Given the description of an element on the screen output the (x, y) to click on. 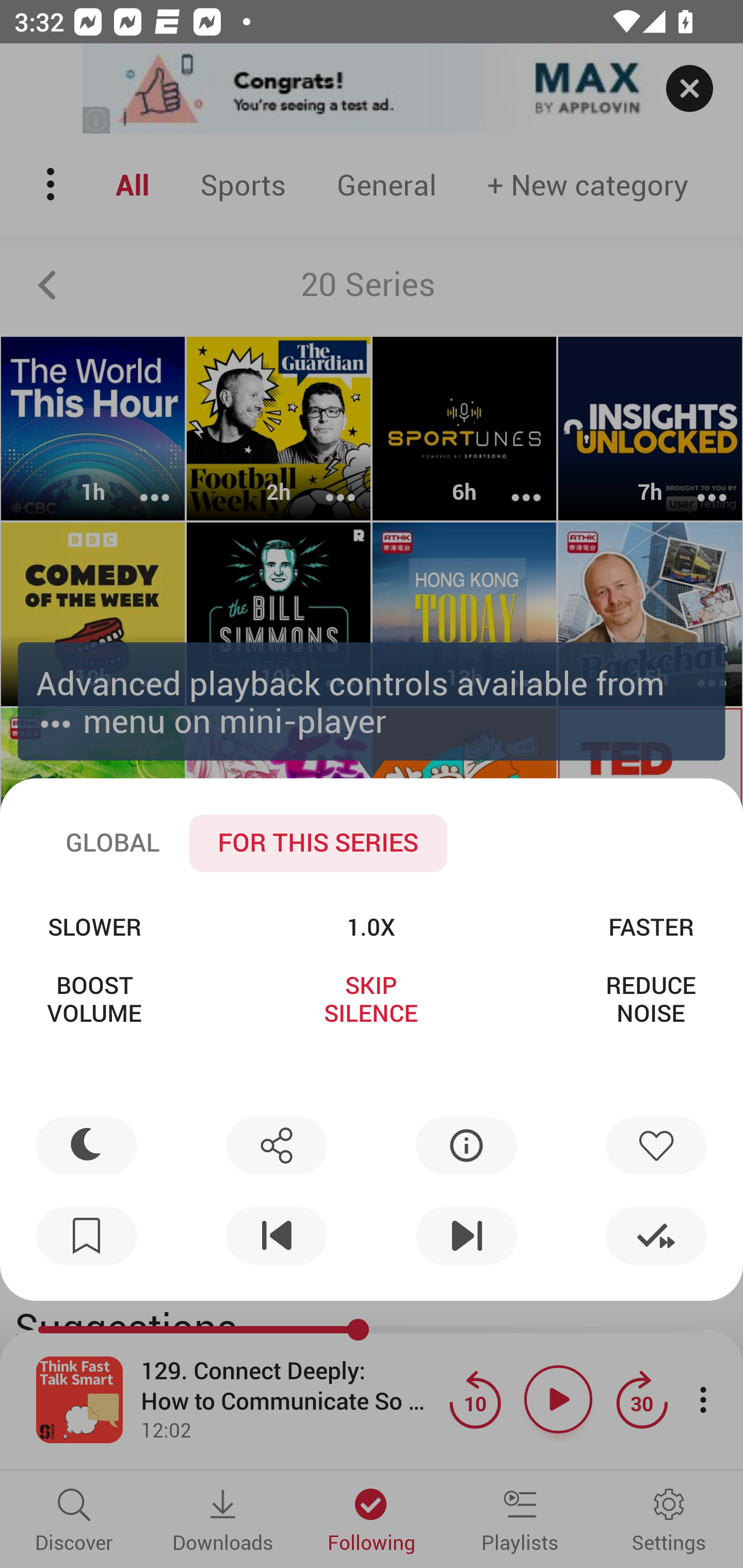
GLOBAL (112, 842)
FOR THIS SERIES (317, 842)
SLOWER (94, 926)
1.0X (370, 926)
FASTER (650, 926)
BOOST
VOLUME (94, 998)
SKIP
SILENCE (370, 998)
REDUCE
NOISE (650, 998)
Sleep timer (86, 1145)
Share (275, 1145)
Info (466, 1145)
Like (655, 1145)
New bookmark … (86, 1236)
Previous (275, 1236)
Next (466, 1236)
Mark played and next (655, 1236)
